Given the description of an element on the screen output the (x, y) to click on. 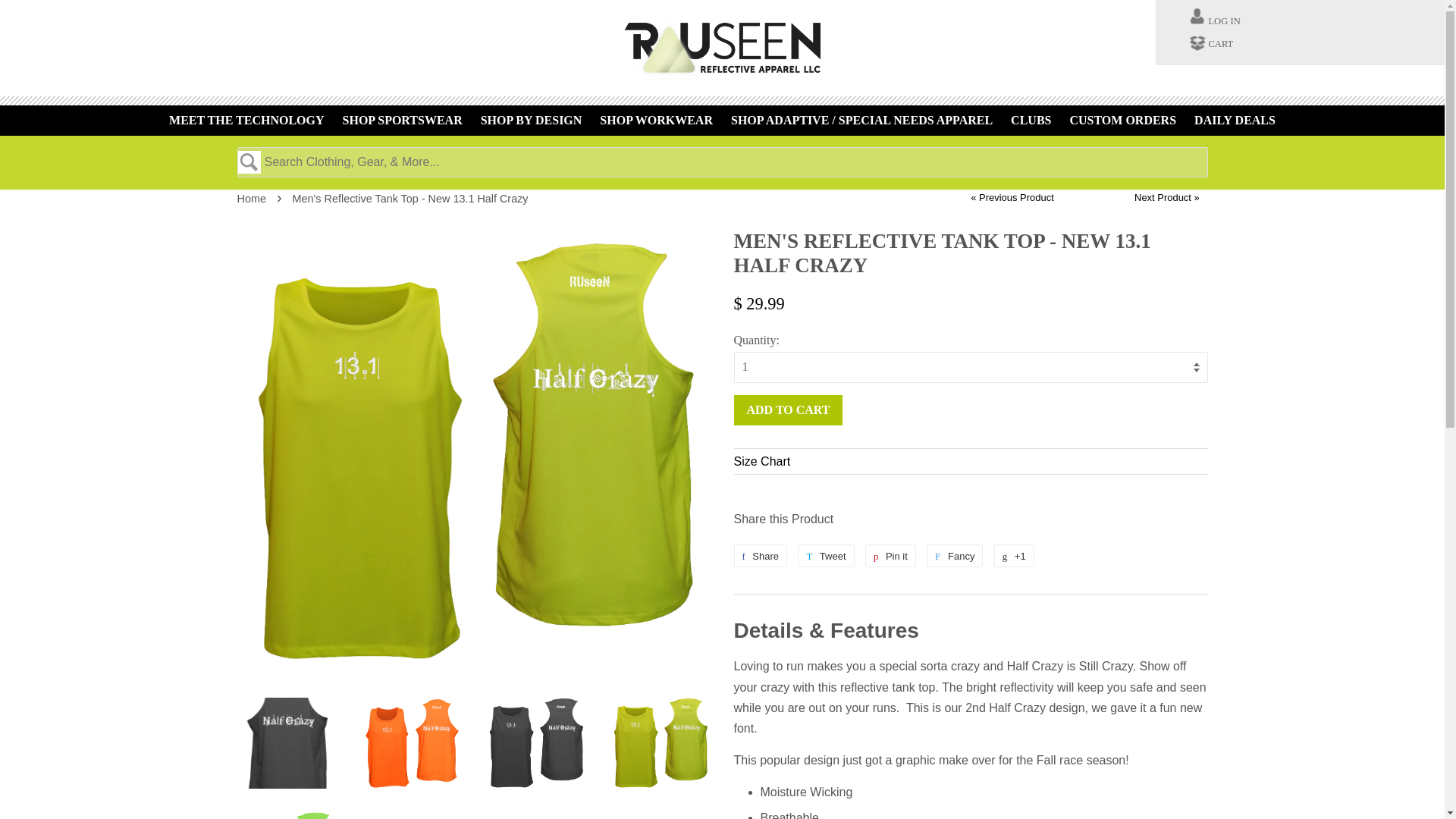
MEET THE TECHNOLOGY (246, 119)
LOG IN (1224, 20)
CART (1220, 44)
SHOP SPORTSWEAR (402, 119)
